Given the description of an element on the screen output the (x, y) to click on. 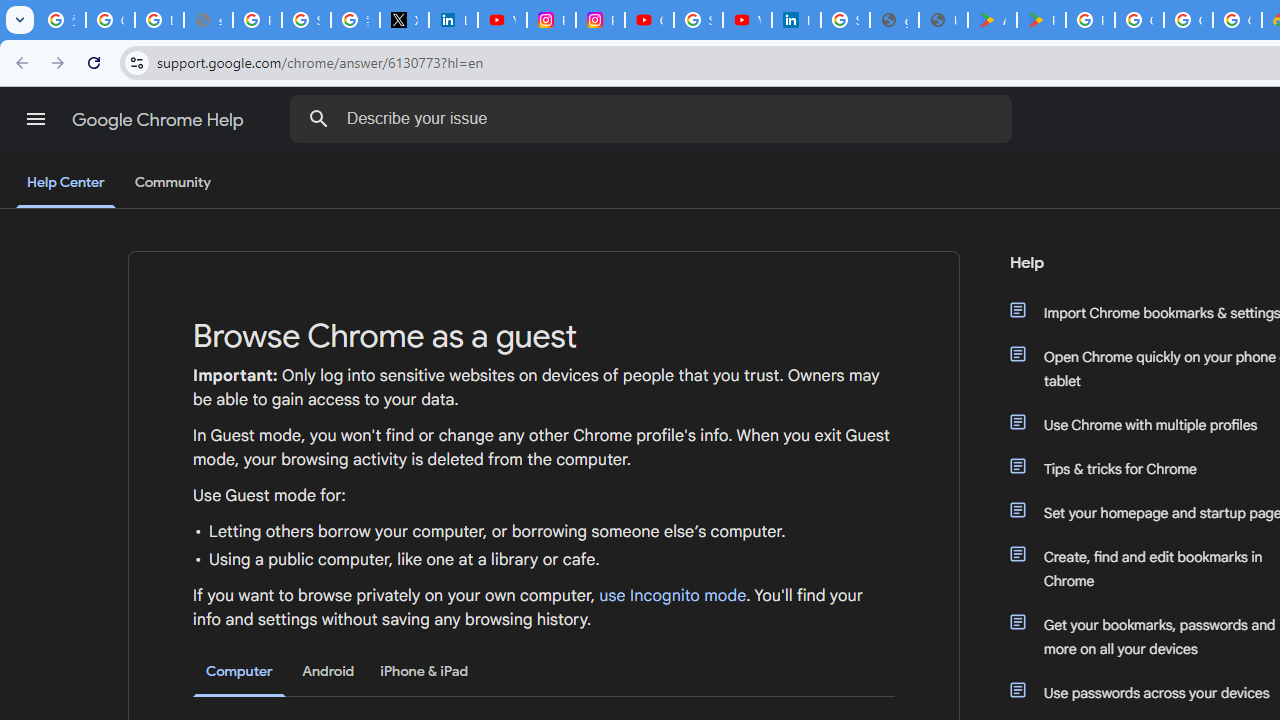
YouTube Content Monetization Policies - How YouTube Works (502, 20)
X (404, 20)
LinkedIn Privacy Policy (452, 20)
PAW Patrol Rescue World - Apps on Google Play (1041, 20)
Google Workspace - Specific Terms (1188, 20)
Computer (239, 672)
Describe your issue (653, 118)
